Given the description of an element on the screen output the (x, y) to click on. 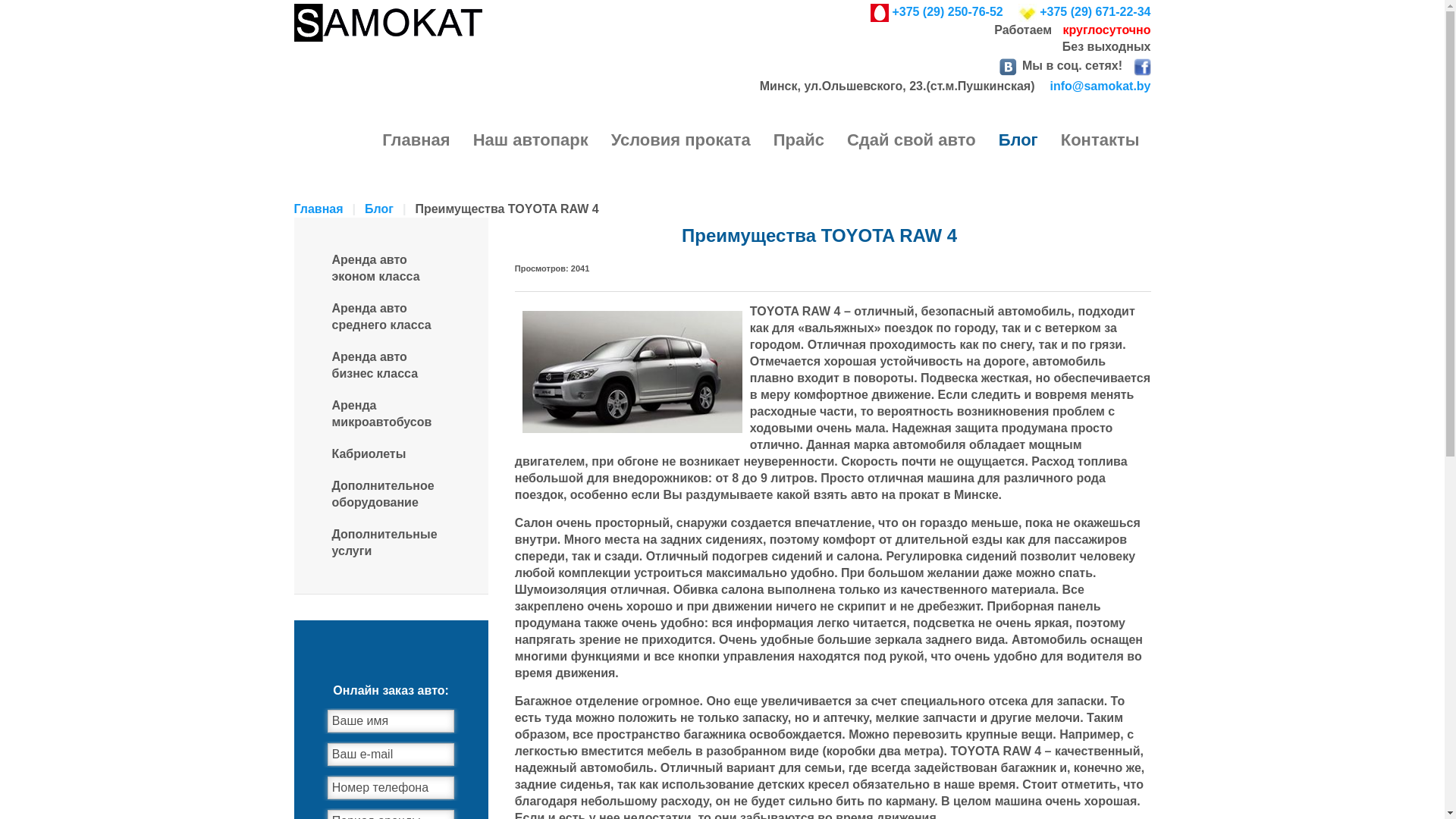
info@samokat.by Element type: text (1096, 86)
+375 (29) 250-76-52 Element type: text (929, 12)
+375 (29) 671-22-34 Element type: text (1077, 12)
